Given the description of an element on the screen output the (x, y) to click on. 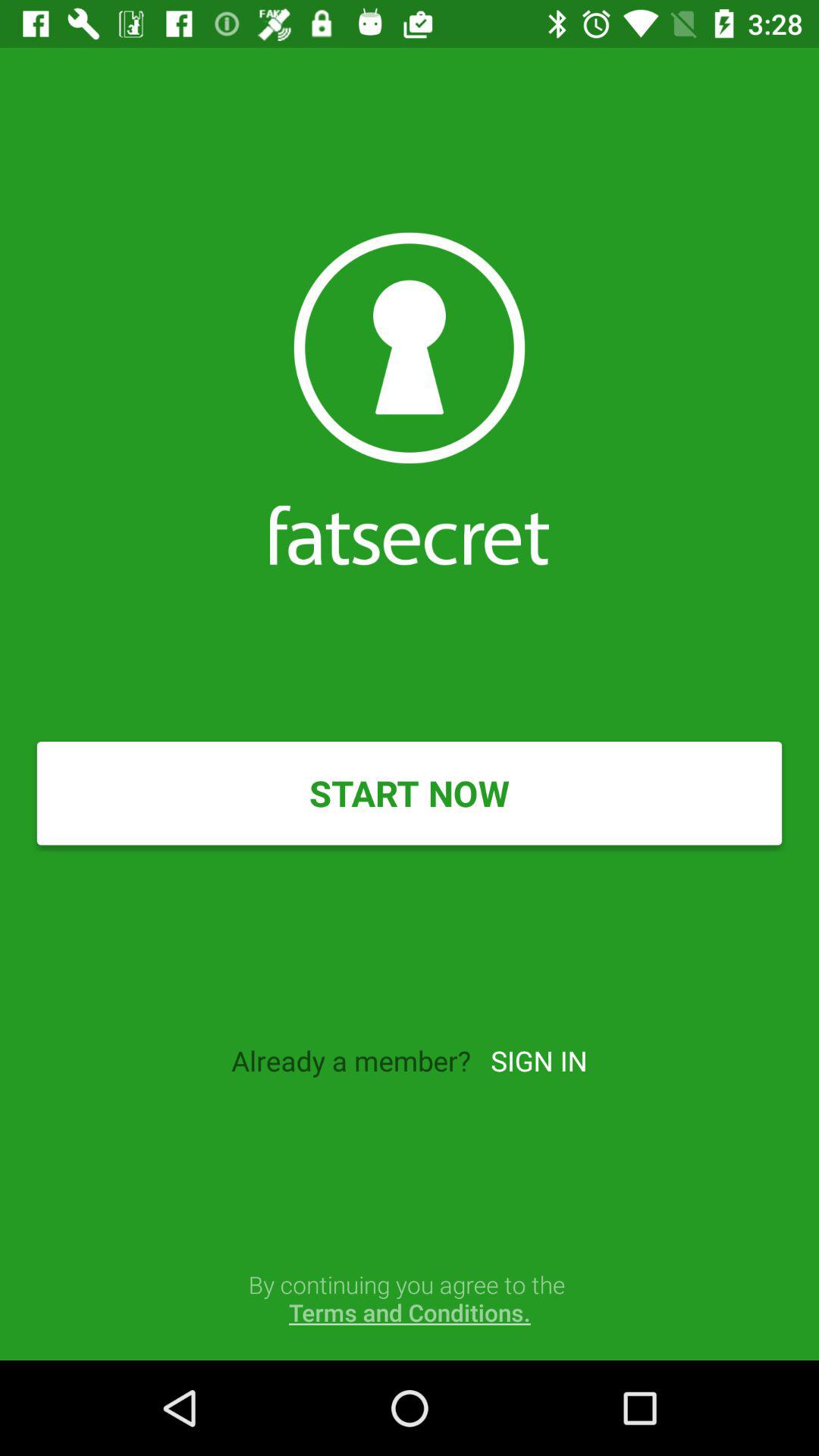
open the item above already a member? item (409, 793)
